Given the description of an element on the screen output the (x, y) to click on. 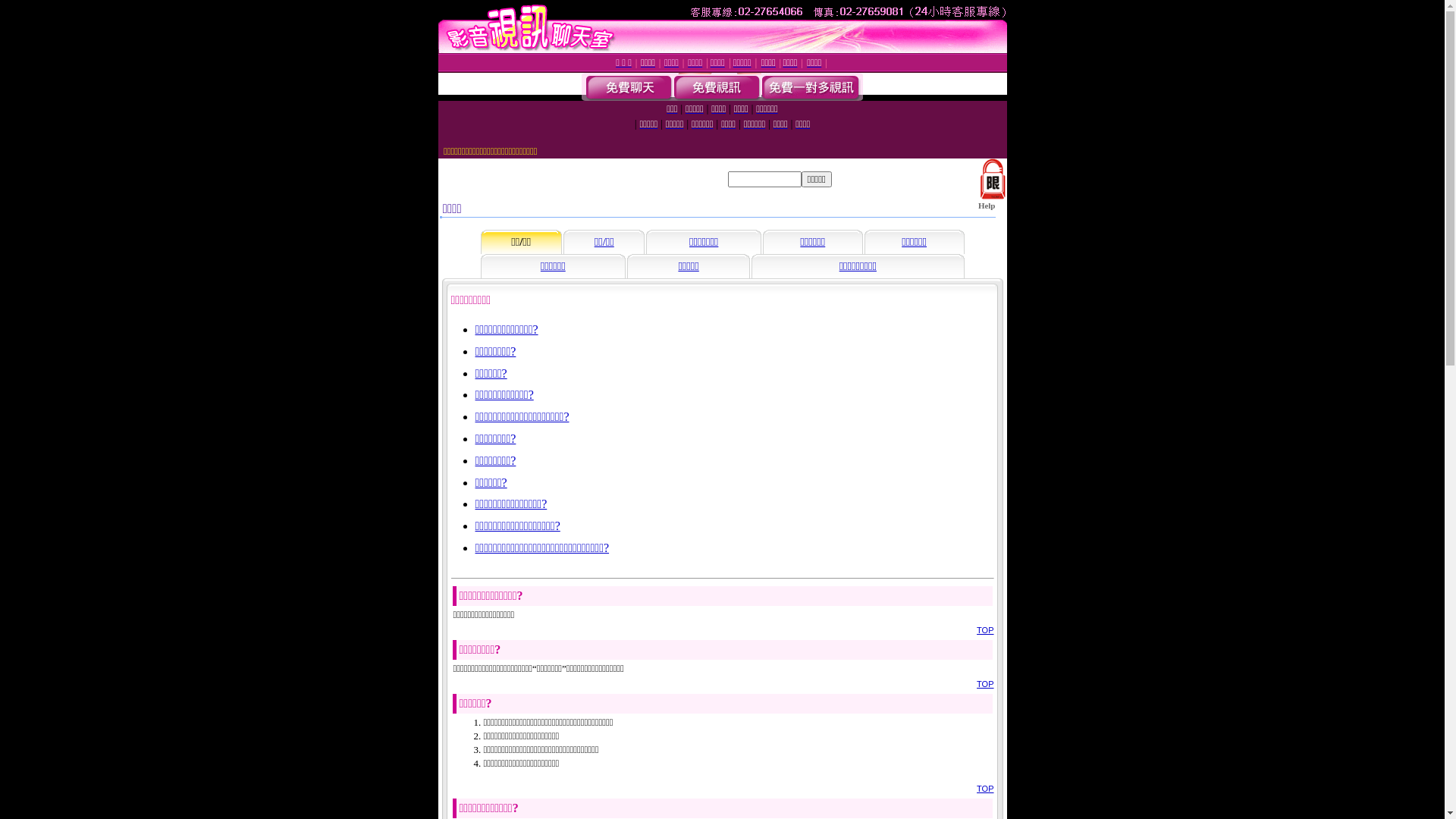
TOP Element type: text (984, 629)
TOP Element type: text (984, 683)
TOP Element type: text (984, 788)
